Given the description of an element on the screen output the (x, y) to click on. 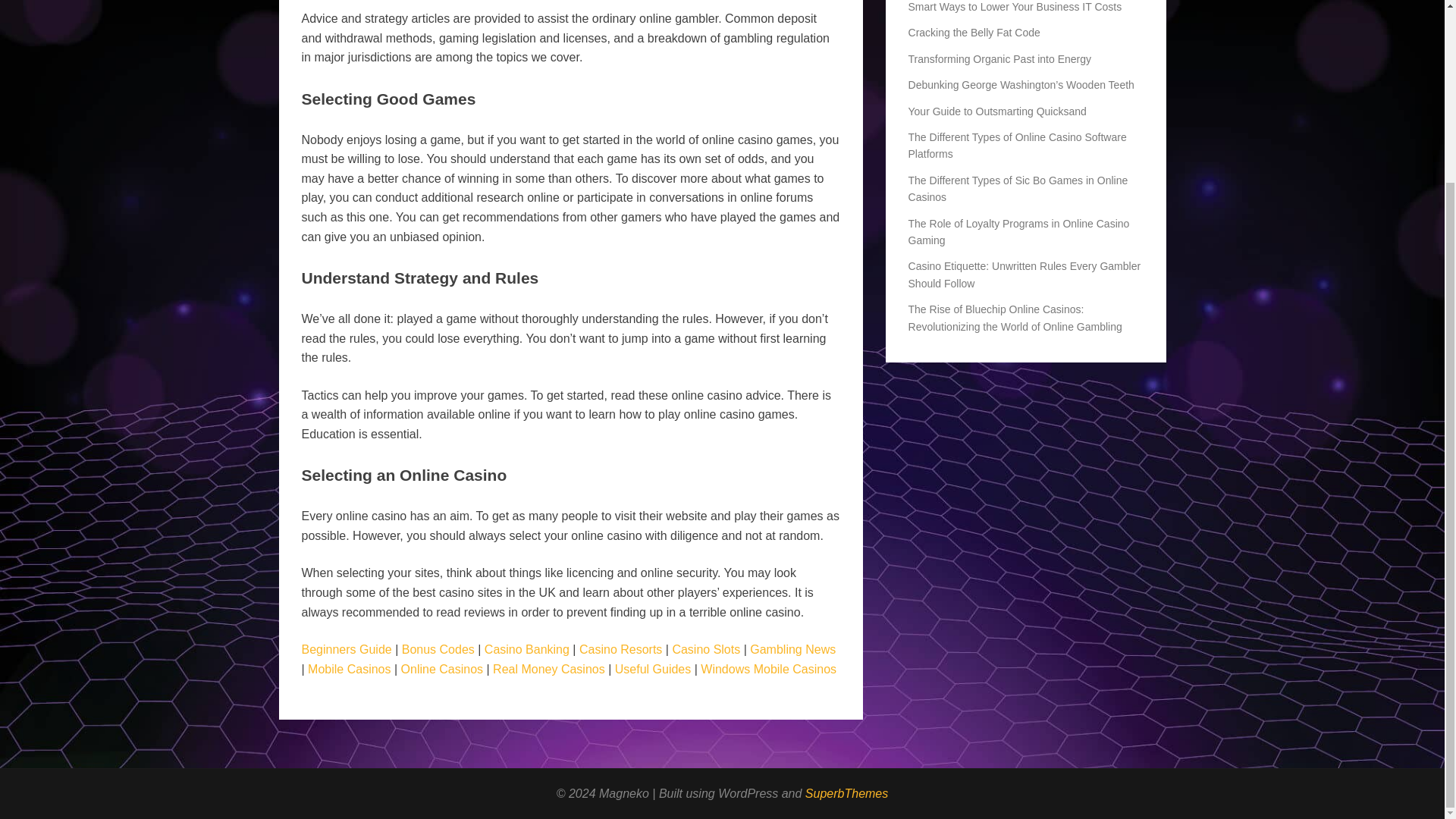
Bonus Codes (437, 649)
Online Casinos (442, 668)
Gambling News (792, 649)
Cracking the Belly Fat Code (974, 32)
Casino Banking (526, 649)
The Role of Loyalty Programs in Online Casino Gaming (1018, 231)
SuperbThemes (846, 793)
Casino Resorts (620, 649)
The Different Types of Online Casino Software Platforms (1017, 145)
Casino Slots (705, 649)
Real Money Casinos (549, 668)
Your Guide to Outsmarting Quicksand (997, 111)
The Different Types of Sic Bo Games in Online Casinos (1018, 188)
